Given the description of an element on the screen output the (x, y) to click on. 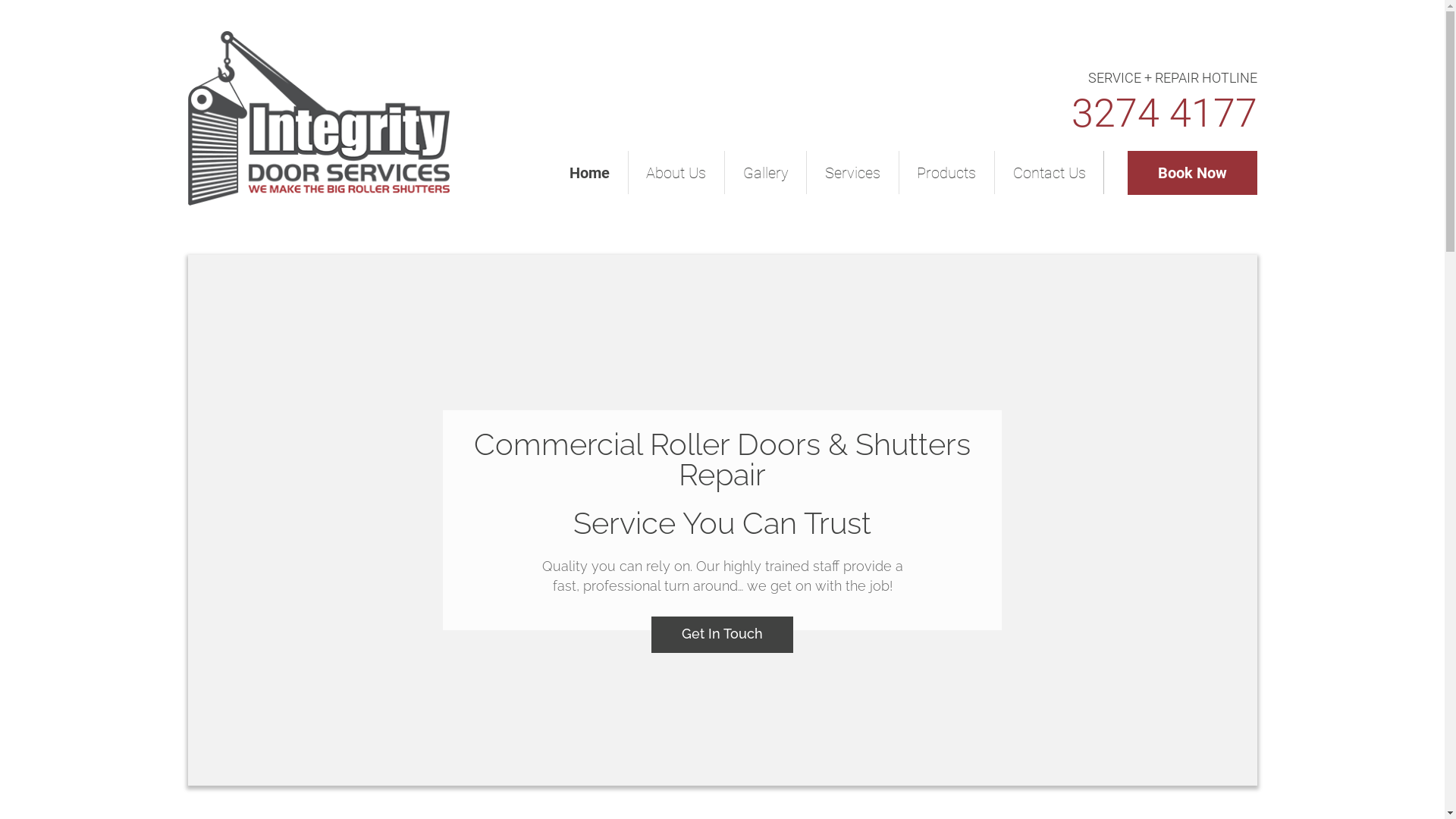
Contact Us Element type: text (1049, 172)
3274 4177 Element type: text (1163, 113)
Gallery Element type: text (765, 172)
Home Element type: text (589, 172)
Get In Touch Element type: text (722, 634)
Services Element type: text (851, 172)
Book Now Element type: text (1191, 172)
About Us Element type: text (675, 172)
Products Element type: text (946, 172)
